Given the description of an element on the screen output the (x, y) to click on. 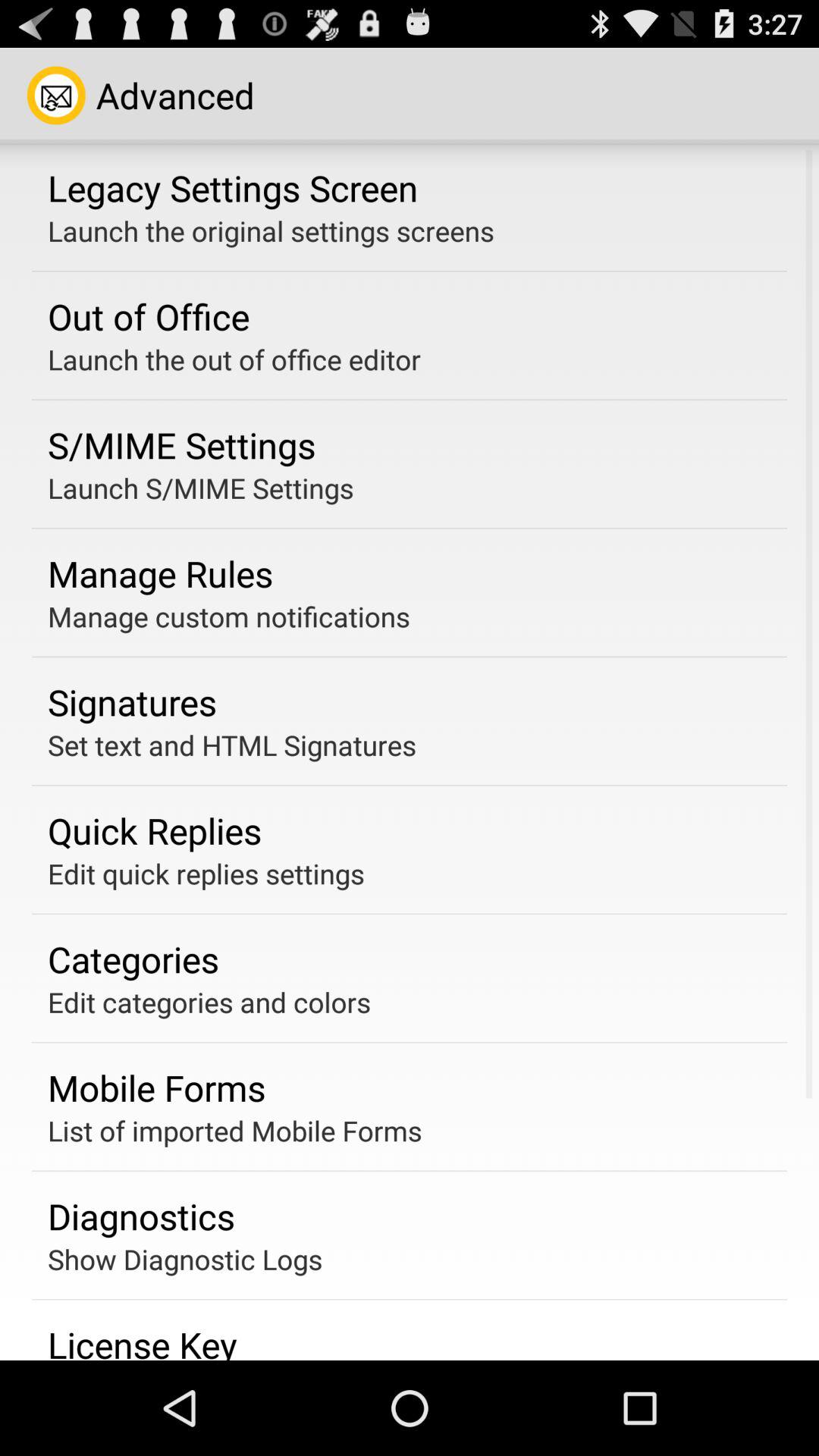
turn on the icon below categories (208, 1001)
